Given the description of an element on the screen output the (x, y) to click on. 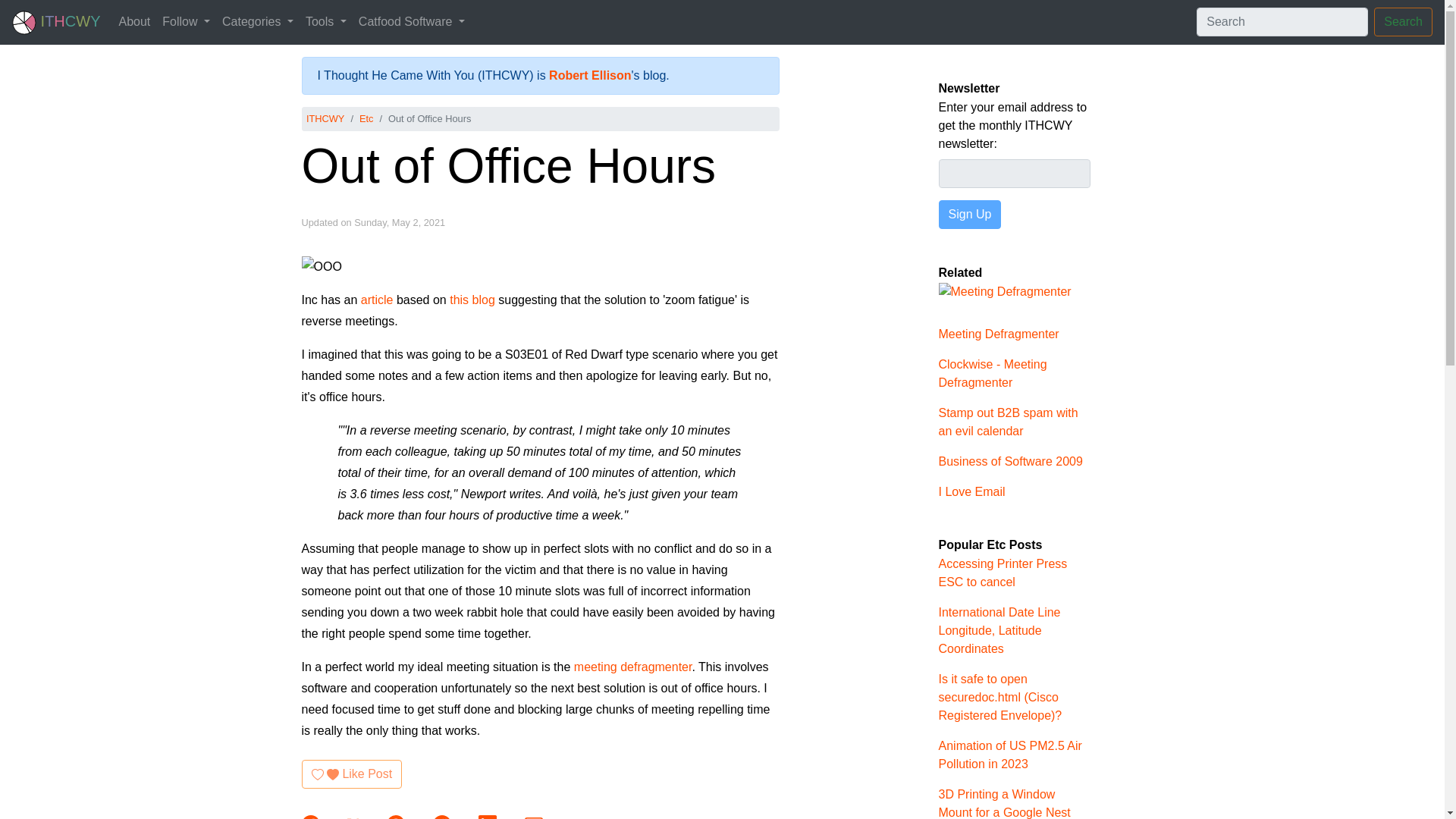
Share on LinkedIn (489, 817)
Share via Email (533, 817)
Share on Facebook (312, 817)
article (377, 299)
Share on Reddit (443, 817)
Follow (185, 21)
Etc (366, 118)
About (133, 21)
meeting defragmenter (633, 666)
Like this post (352, 774)
Out of Office Hours (508, 165)
Catfood Software (411, 21)
Categories (257, 21)
Meeting Defragmenter (1005, 302)
Like Post (352, 774)
